Given the description of an element on the screen output the (x, y) to click on. 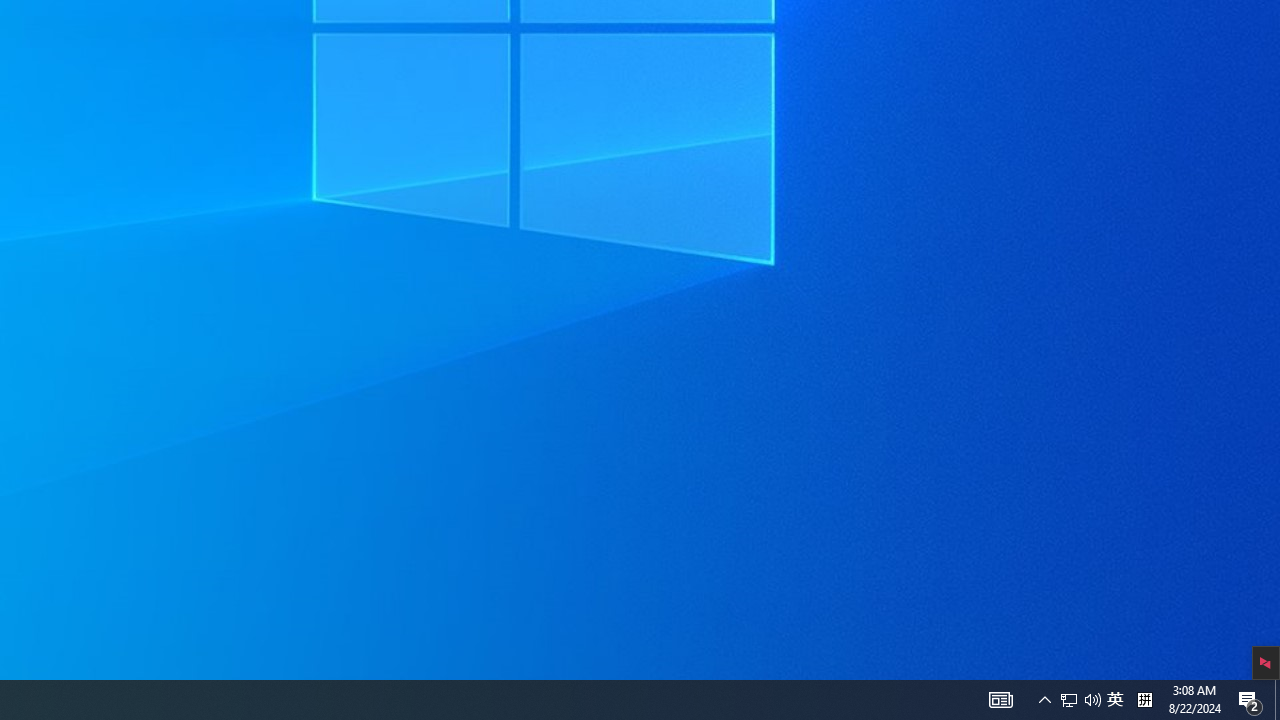
Q2790: 100% (1092, 699)
AutomationID: 4105 (1000, 699)
User Promoted Notification Area (1080, 699)
Tray Input Indicator - Chinese (Simplified, China) (1069, 699)
Show desktop (1144, 699)
Notification Chevron (1115, 699)
Action Center, 2 new notifications (1277, 699)
